Given the description of an element on the screen output the (x, y) to click on. 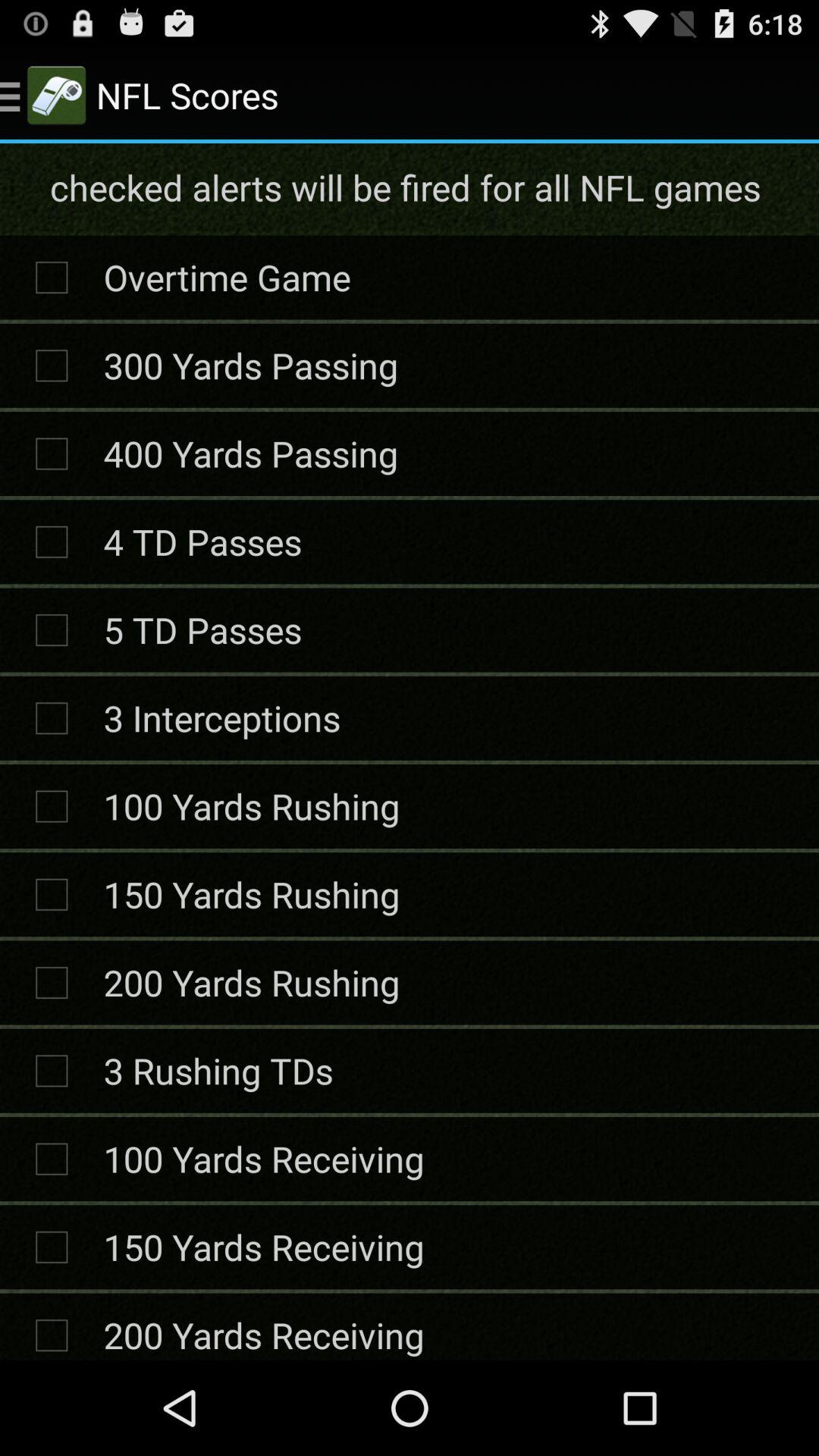
click checked alerts will icon (408, 187)
